Given the description of an element on the screen output the (x, y) to click on. 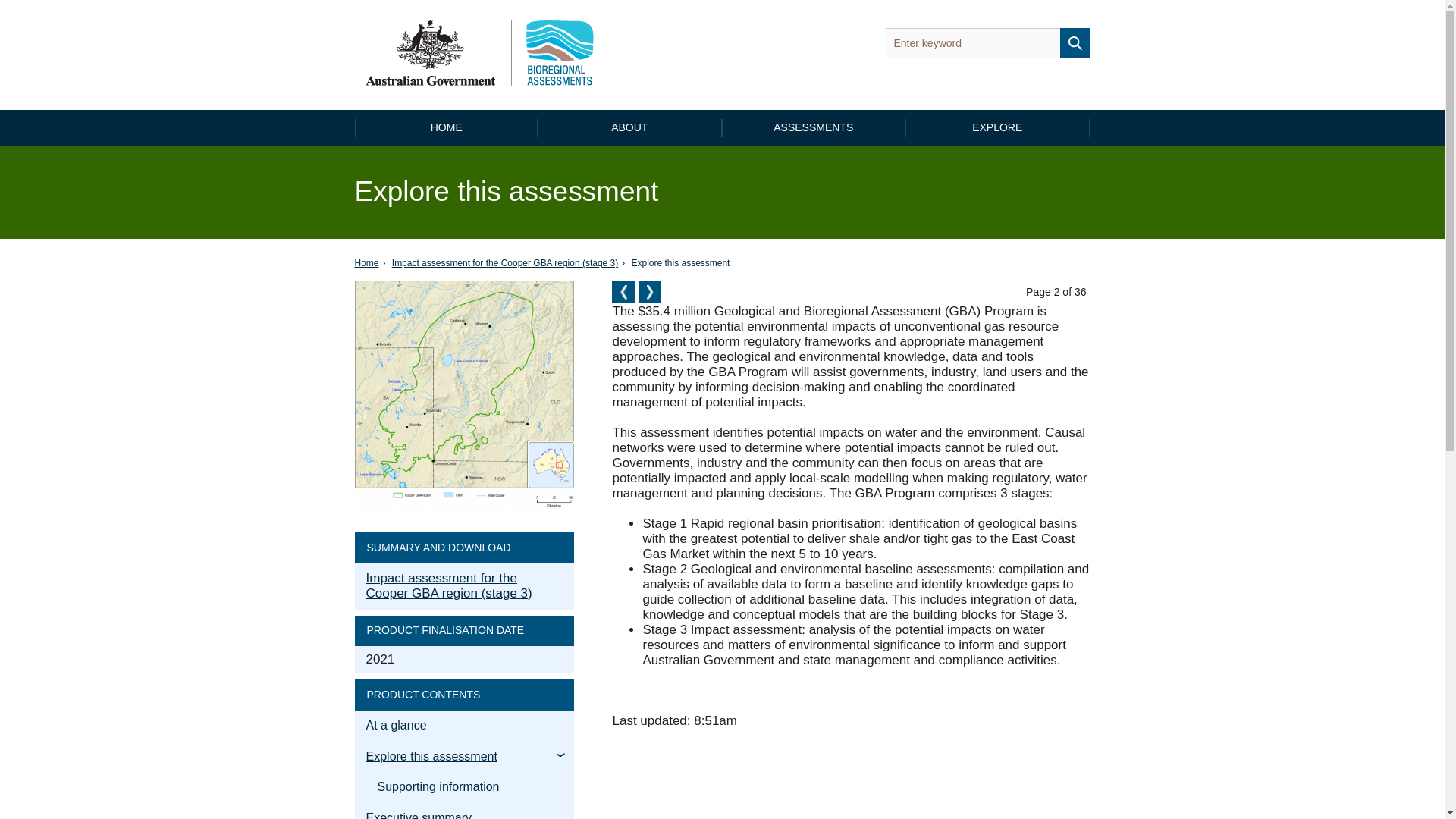
Home (366, 262)
Search (1074, 42)
ASSESSMENTS (813, 127)
At a glance (622, 291)
Enter the terms you wish to search for. (987, 42)
Supporting information (650, 291)
Go to top of page (648, 286)
Search (1074, 42)
ABOUT (630, 127)
HOME (446, 127)
EXPLORE (997, 127)
